Given the description of an element on the screen output the (x, y) to click on. 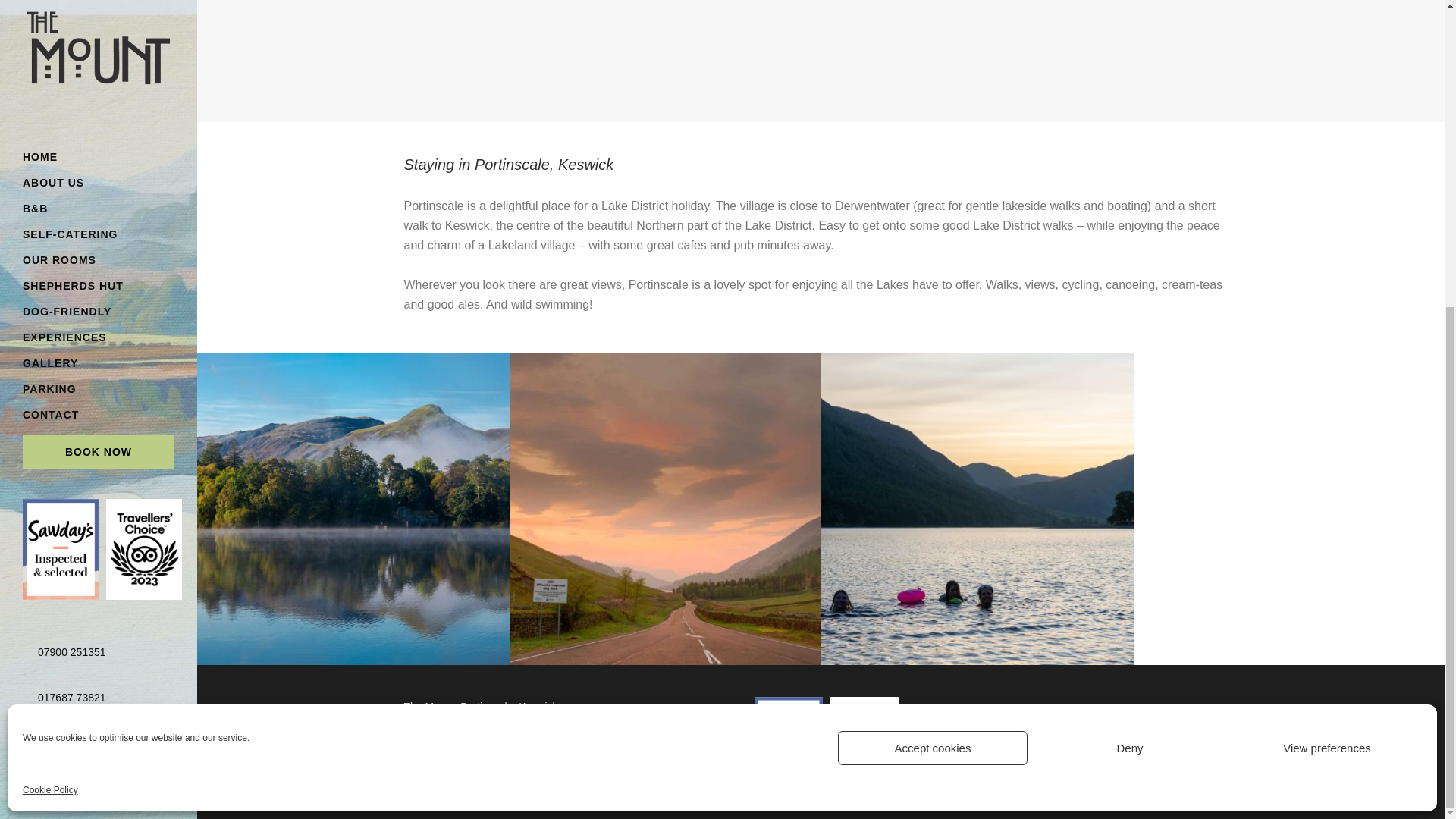
Deny (1129, 263)
017687 73821 (71, 212)
Cookie Policy (50, 305)
View preferences (1326, 263)
07900 251351 (71, 167)
Accept cookies (932, 263)
themount-parking-001 (665, 508)
Buttermere memories (977, 508)
